Given the description of an element on the screen output the (x, y) to click on. 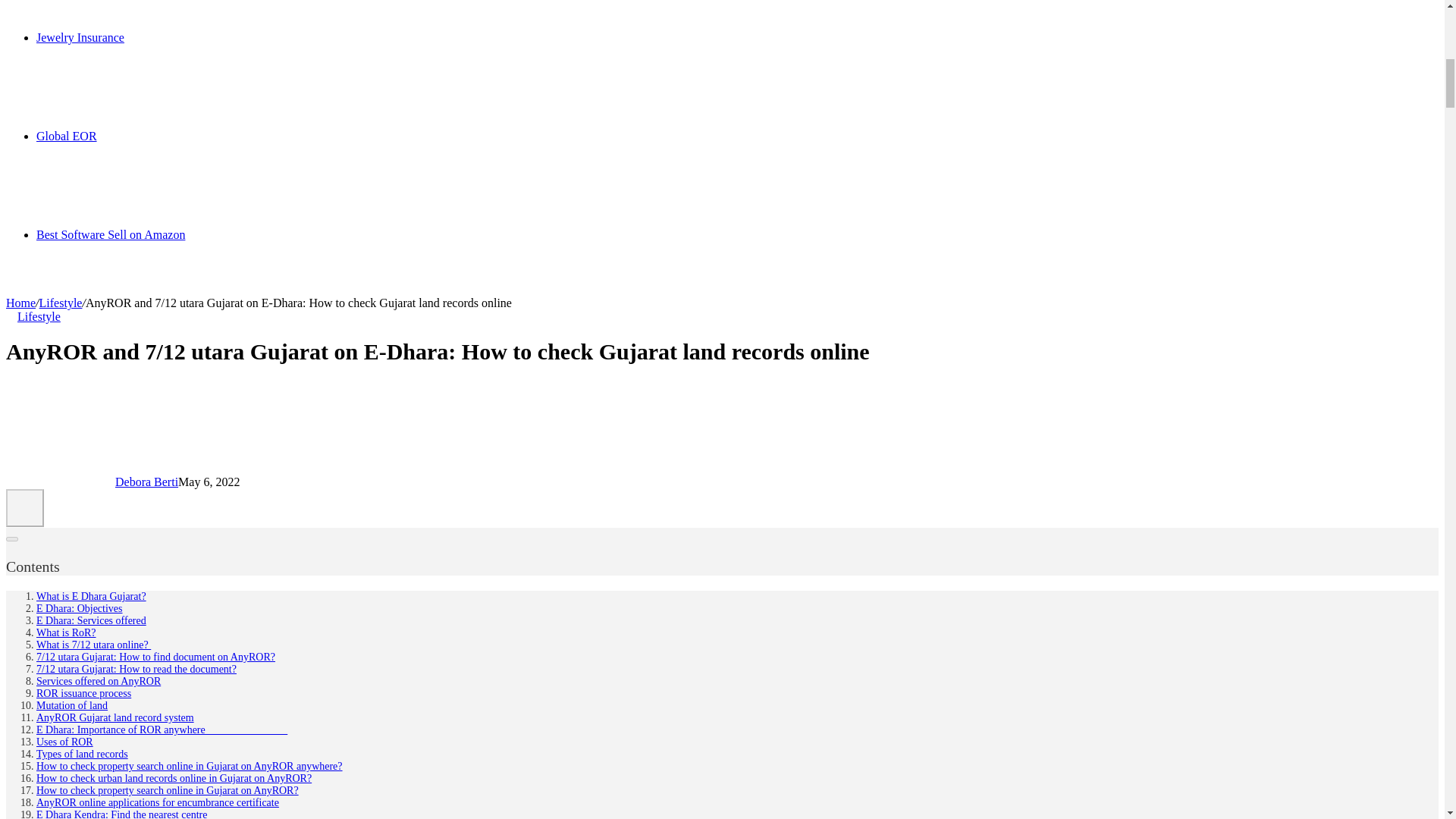
Debora Berti (146, 481)
ROR issuance process (83, 693)
E Dhara: Services offered (91, 620)
Jewelry Insurance (79, 37)
Services offered on AnyROR (98, 681)
Best Software Sell on Amazon (110, 234)
Lifestyle (60, 302)
E Dhara: Objectives (79, 608)
Global EOR (66, 135)
Home (19, 302)
What is RoR? (66, 632)
Lifestyle (38, 316)
What is E Dhara Gujarat? (91, 595)
AnyROR Gujarat land record system (114, 717)
click To Maximize The Table Of Contents (24, 507)
